Given the description of an element on the screen output the (x, y) to click on. 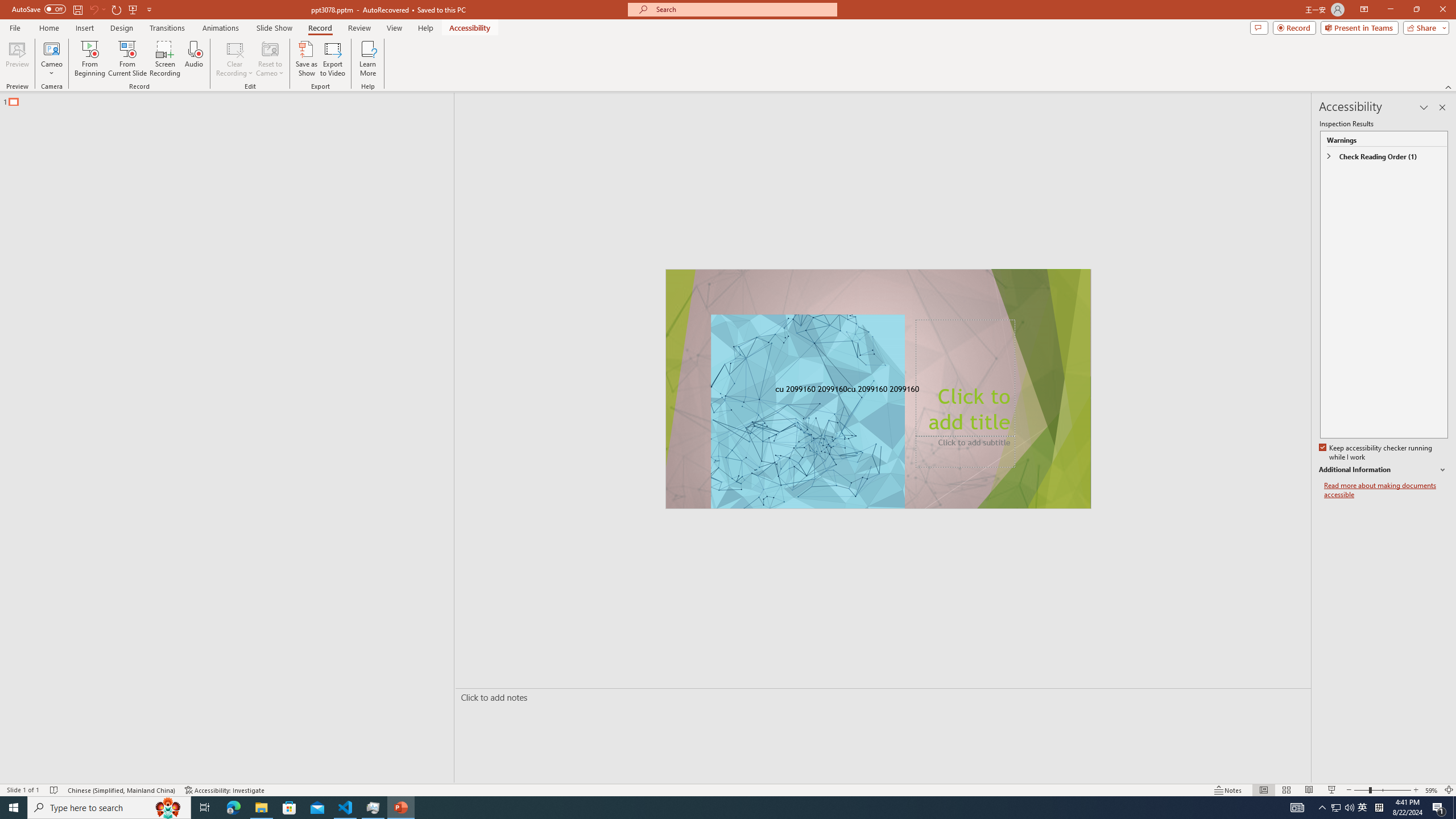
Outline (231, 99)
Keep accessibility checker running while I work (1376, 452)
An abstract genetic concept (877, 388)
